Given the description of an element on the screen output the (x, y) to click on. 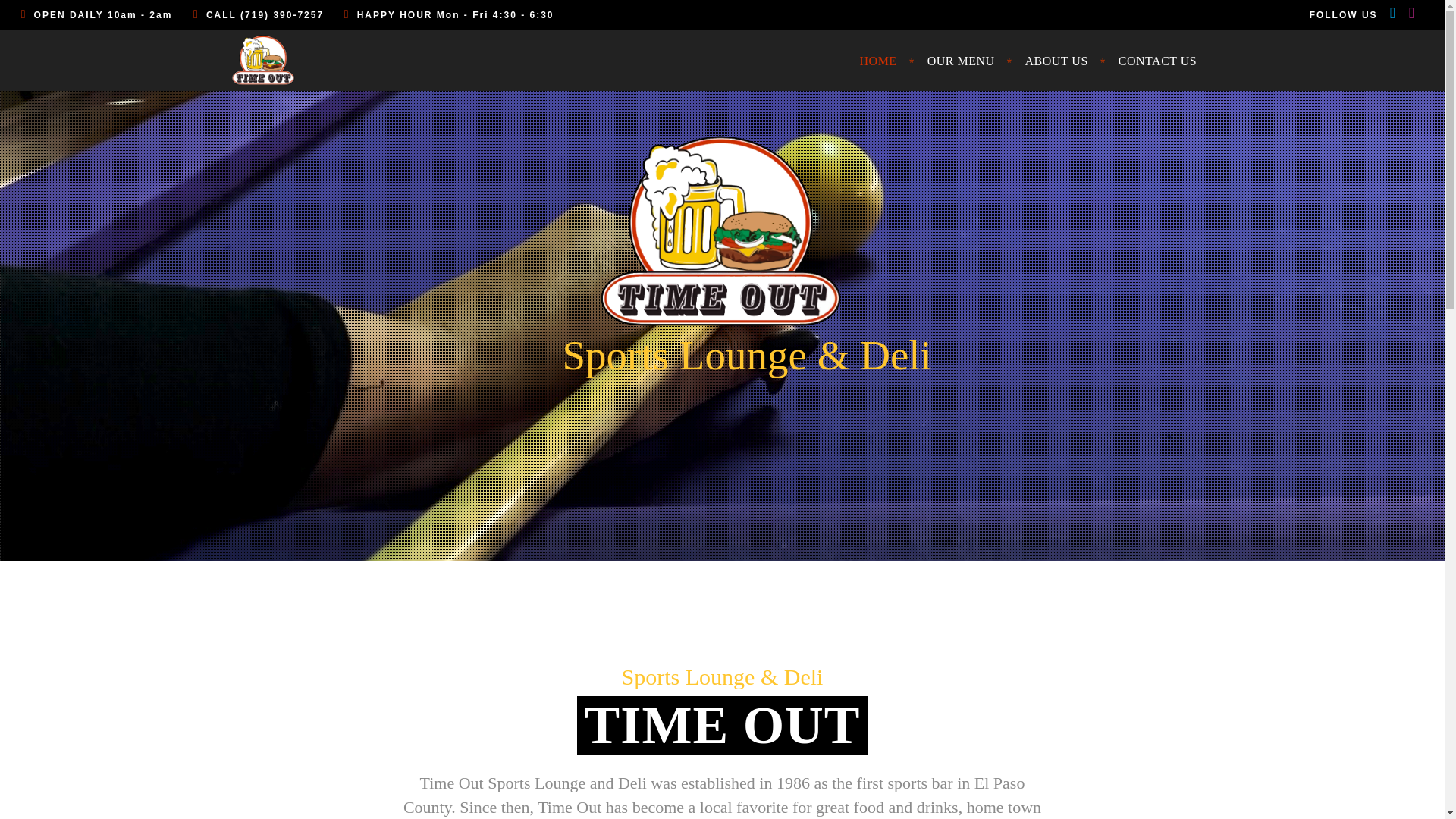
CONTACT US (1157, 60)
ABOUT US (1056, 60)
HOME (878, 60)
OPEN DAILY 10am - 2am (106, 15)
OUR MENU (961, 60)
HAPPY HOUR Mon - Fri 4:30 - 6:30 (448, 15)
